Given the description of an element on the screen output the (x, y) to click on. 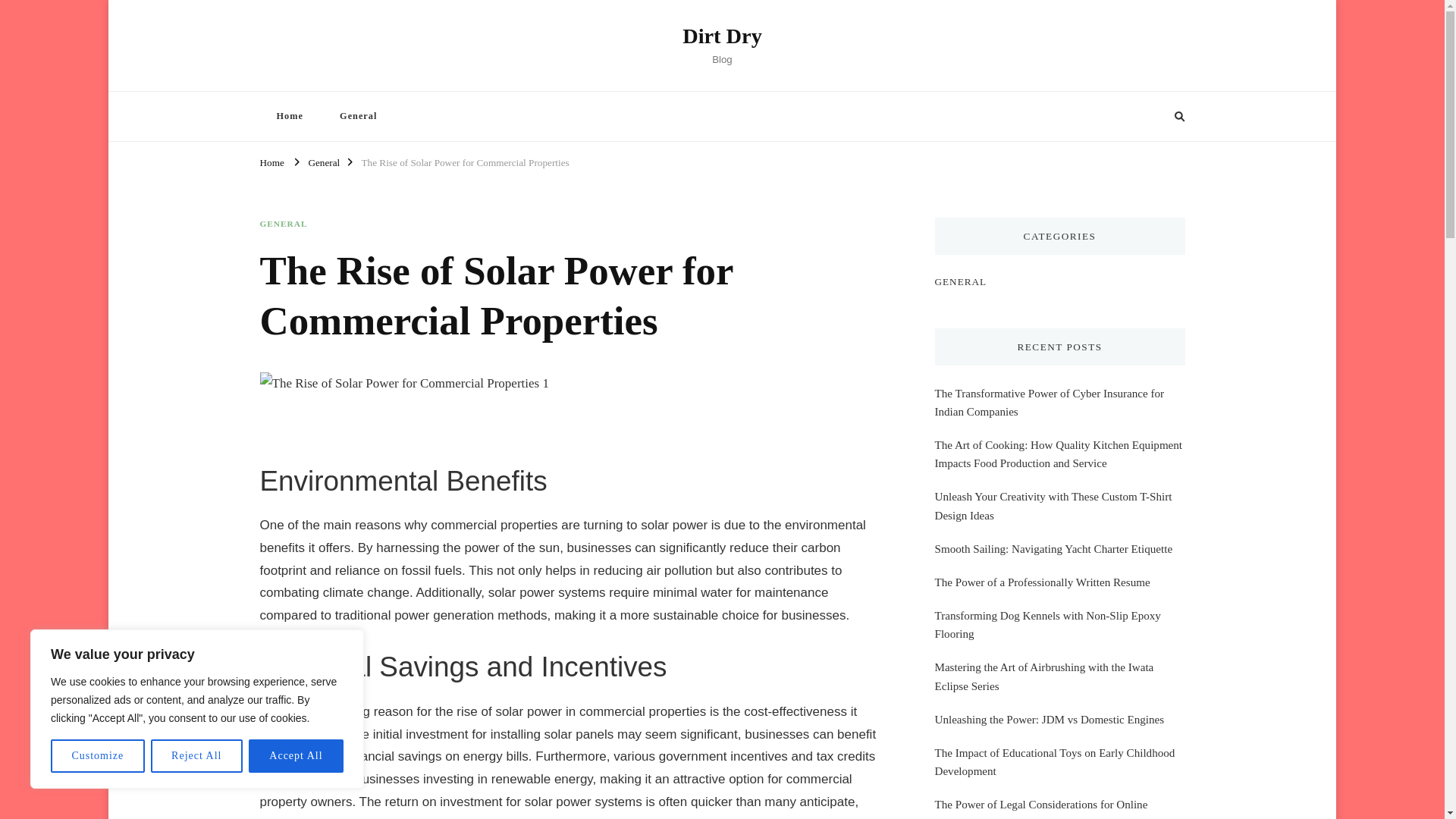
GENERAL (283, 223)
Home (271, 161)
The Rise of Solar Power for Commercial Properties (465, 161)
General (358, 115)
Customize (97, 756)
Accept All (295, 756)
Dirt Dry (721, 35)
Reject All (197, 756)
General (323, 161)
Home (288, 115)
